Given the description of an element on the screen output the (x, y) to click on. 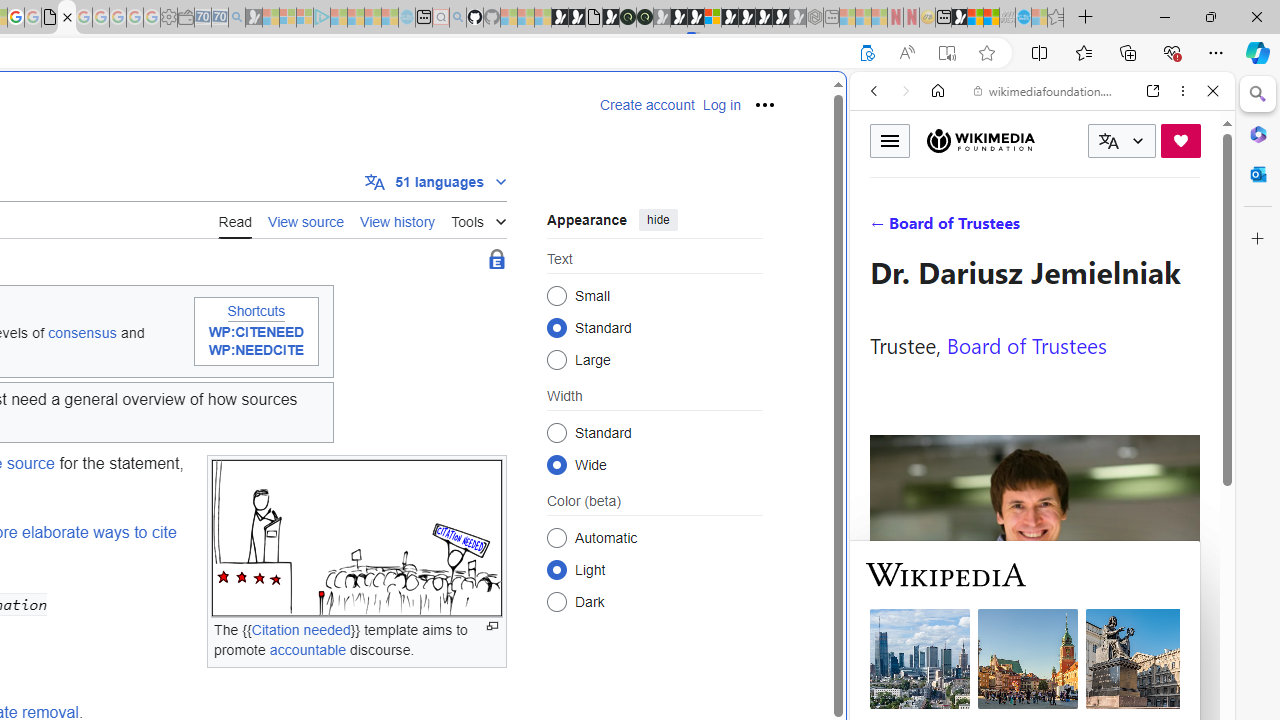
Wikimedia Foundation (980, 140)
WP:CITENEED (255, 333)
Donate now (1180, 140)
Wikipedia:Citation needed - Wikipedia (66, 17)
Wikimedia Foundation (980, 141)
